Given the description of an element on the screen output the (x, y) to click on. 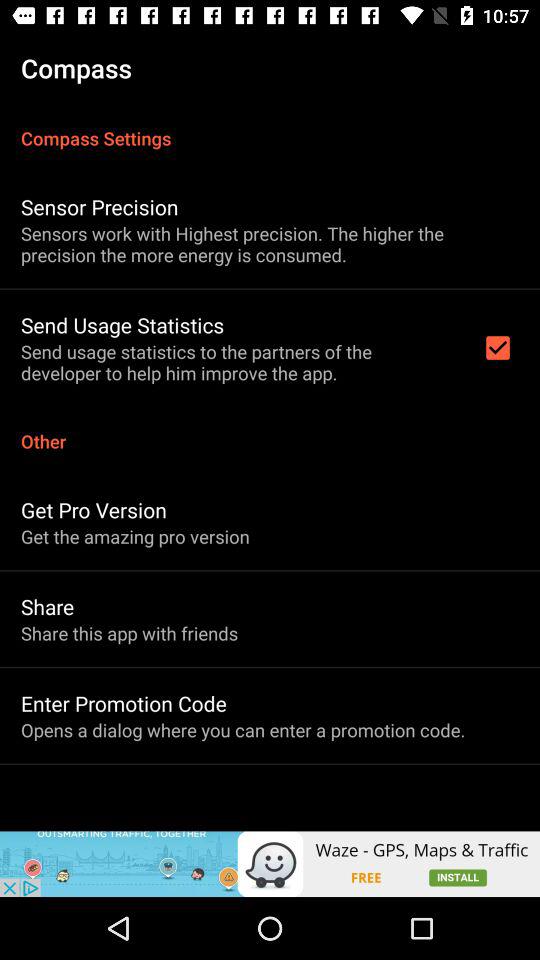
select item above get pro version (270, 430)
